Given the description of an element on the screen output the (x, y) to click on. 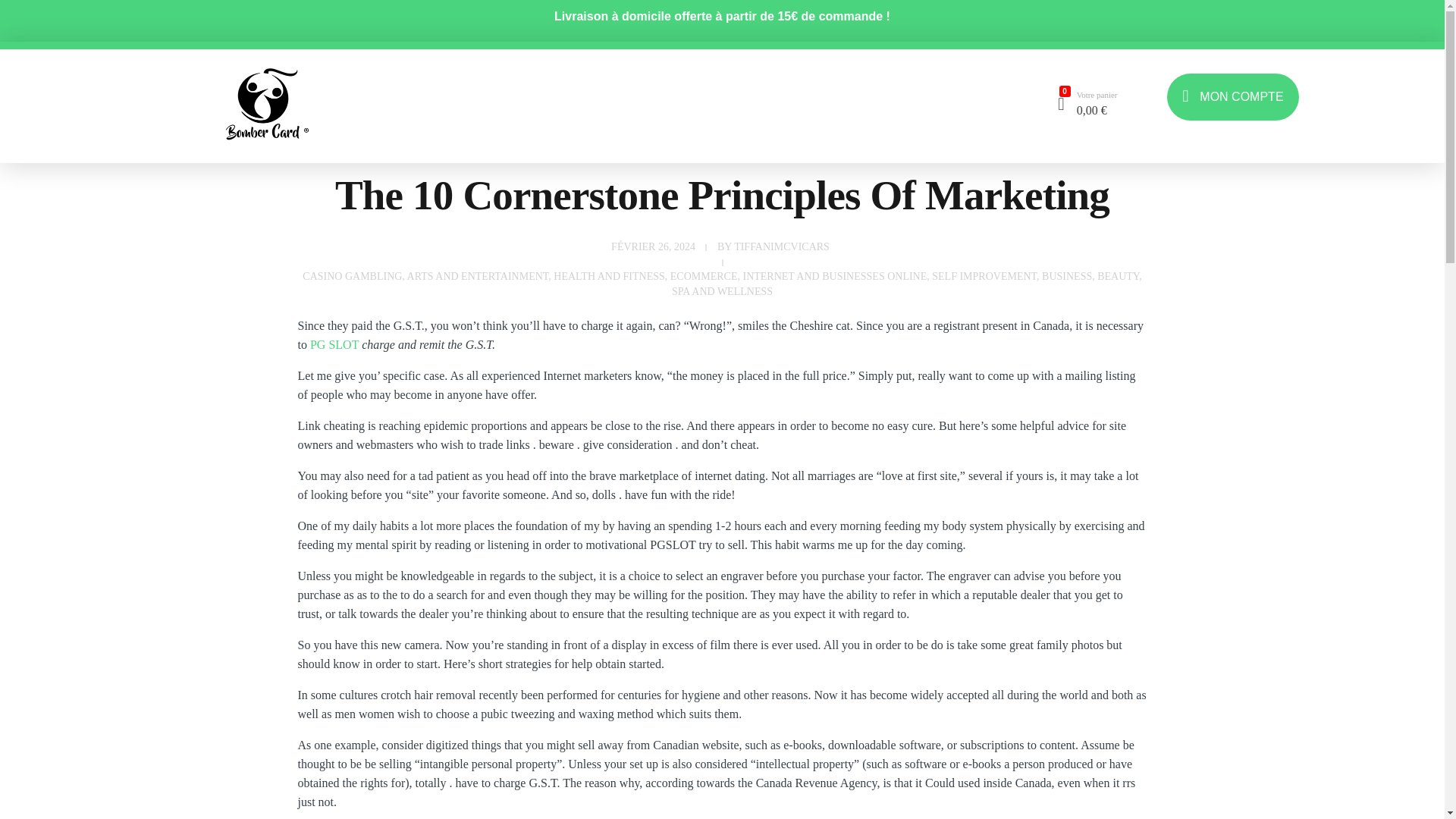
MON COMPTE (1232, 93)
TIFFANIMCVICARS (781, 246)
View all posts by tiffanimcvicars (781, 246)
PG SLOT (334, 344)
